Given the description of an element on the screen output the (x, y) to click on. 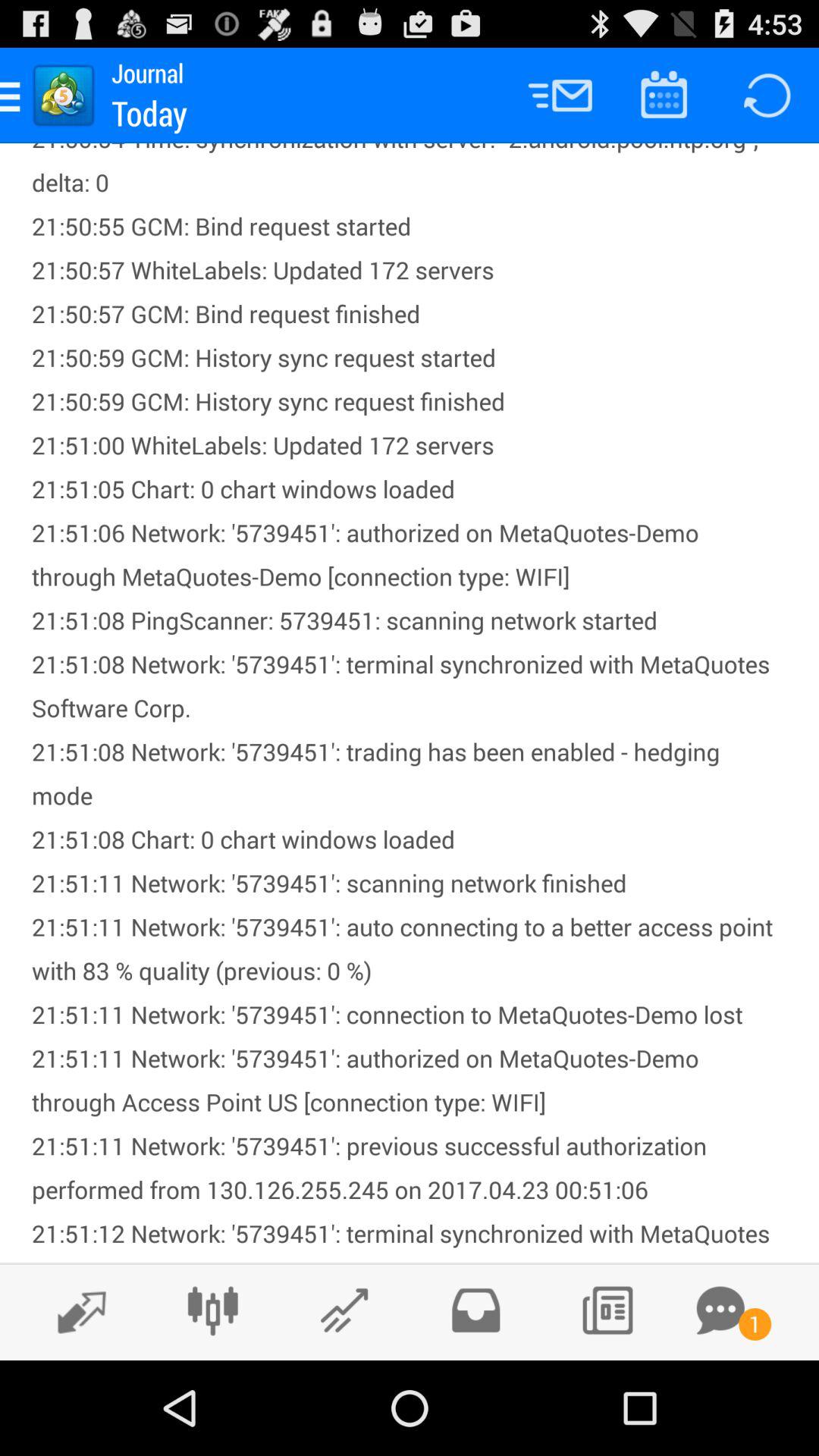
security options (475, 1310)
